Given the description of an element on the screen output the (x, y) to click on. 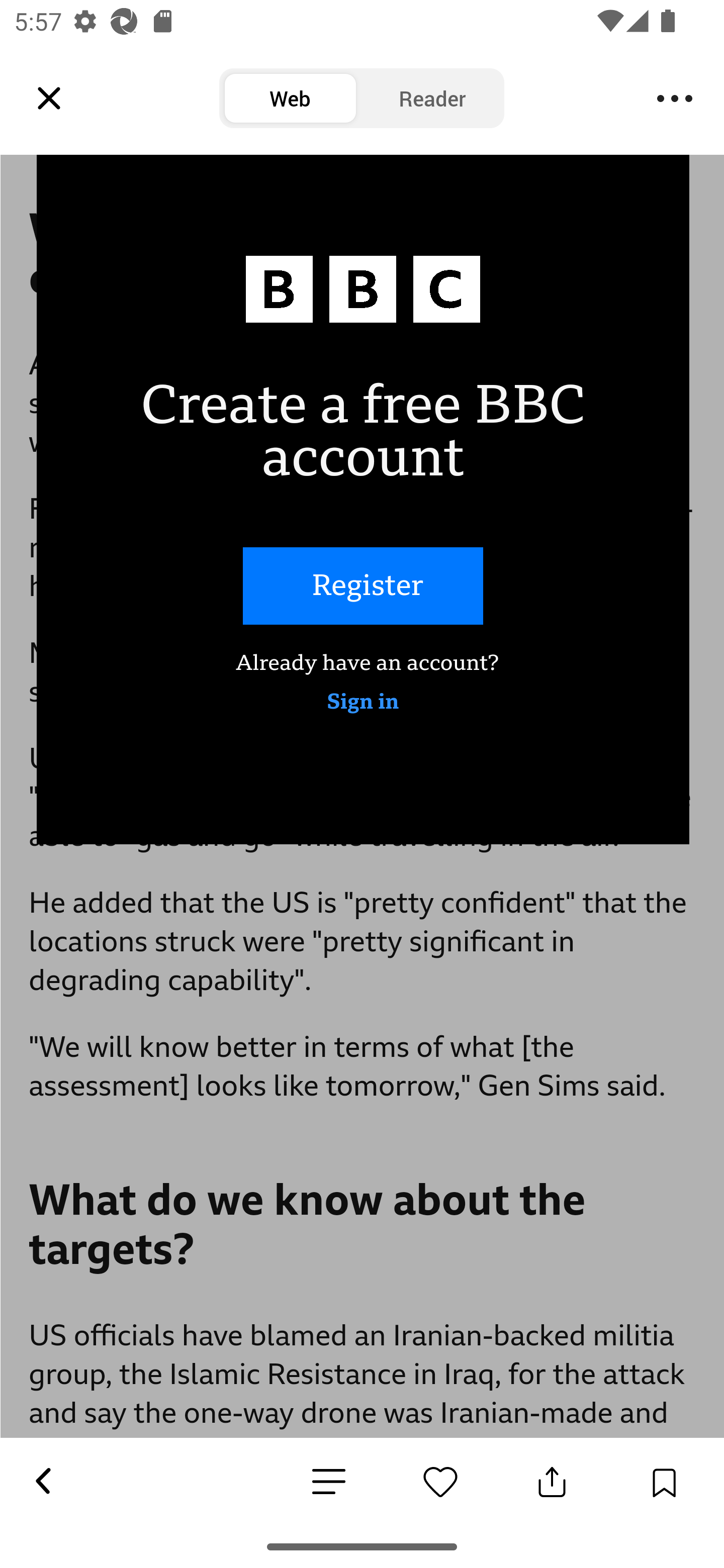
Reader (432, 98)
Menu (674, 98)
Leading Icon (49, 98)
Back Button (42, 1481)
News Detail Emotion (440, 1481)
Share Button (551, 1481)
Save Button (663, 1481)
News Detail Emotion (329, 1482)
